Given the description of an element on the screen output the (x, y) to click on. 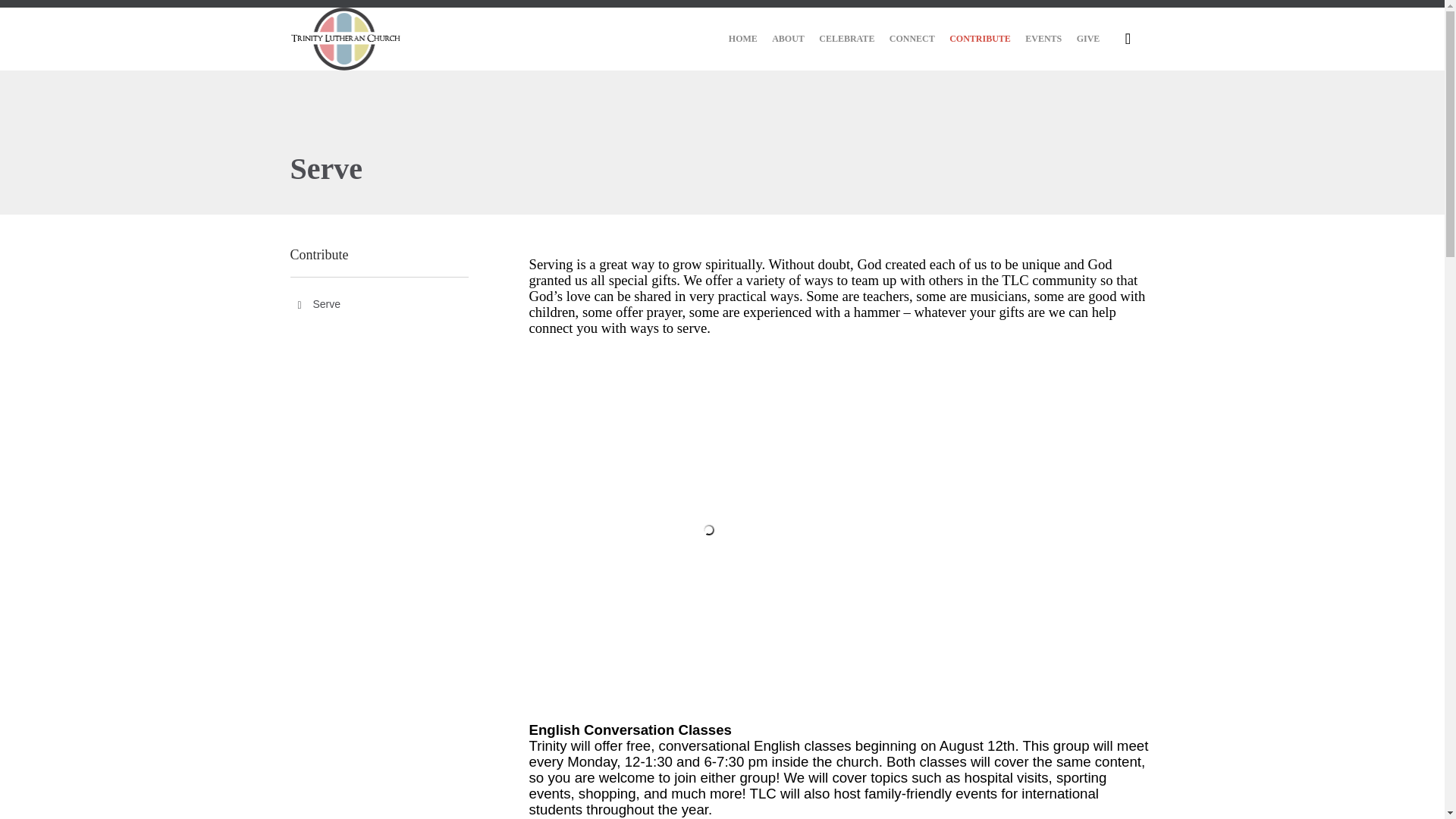
HOME (742, 39)
CONTRIBUTE (979, 39)
Serve (378, 303)
Trinity Lutheran Church (345, 38)
EVENTS (1043, 39)
CONNECT (911, 39)
ABOUT (788, 39)
CELEBRATE (846, 39)
GIVE (1087, 39)
